Given the description of an element on the screen output the (x, y) to click on. 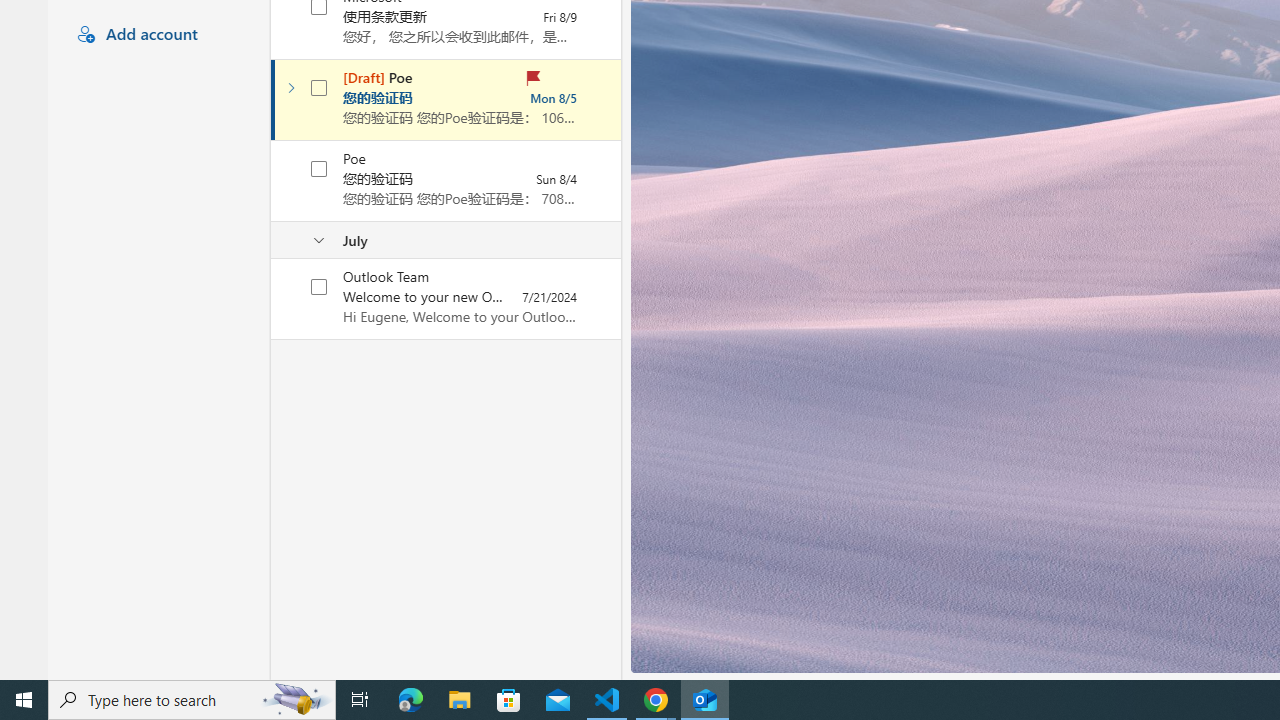
Mark as unread (273, 299)
AutomationID: checkbox-192 (319, 6)
Mark as read (273, 99)
AutomationID: checkbox-215 (319, 168)
AutomationID: checkbox-205 (319, 87)
Select a conversation (319, 286)
AutomationID: checkbox-225 (319, 286)
Expand conversation (291, 88)
